Given the description of an element on the screen output the (x, y) to click on. 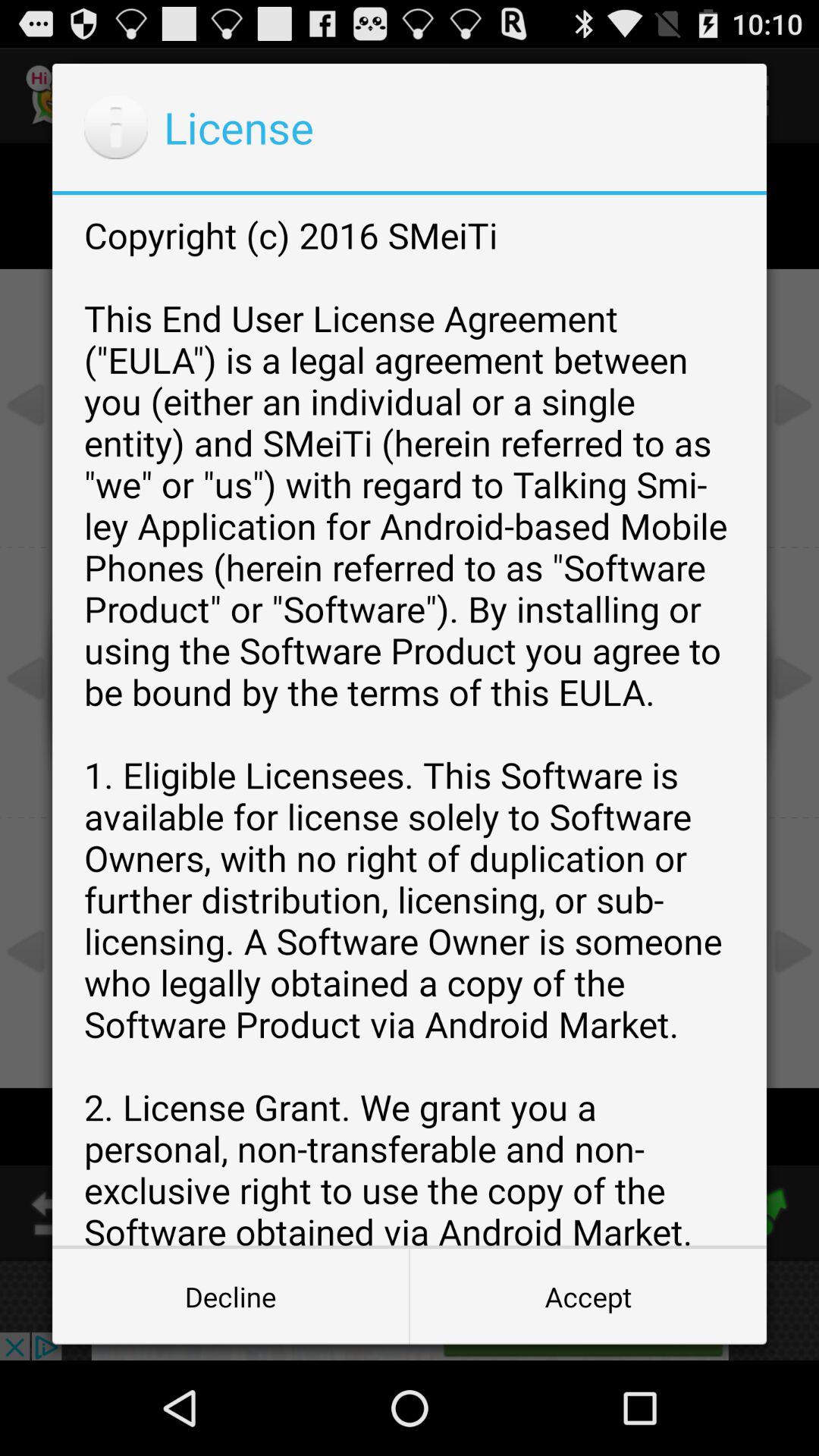
open decline icon (230, 1296)
